Given the description of an element on the screen output the (x, y) to click on. 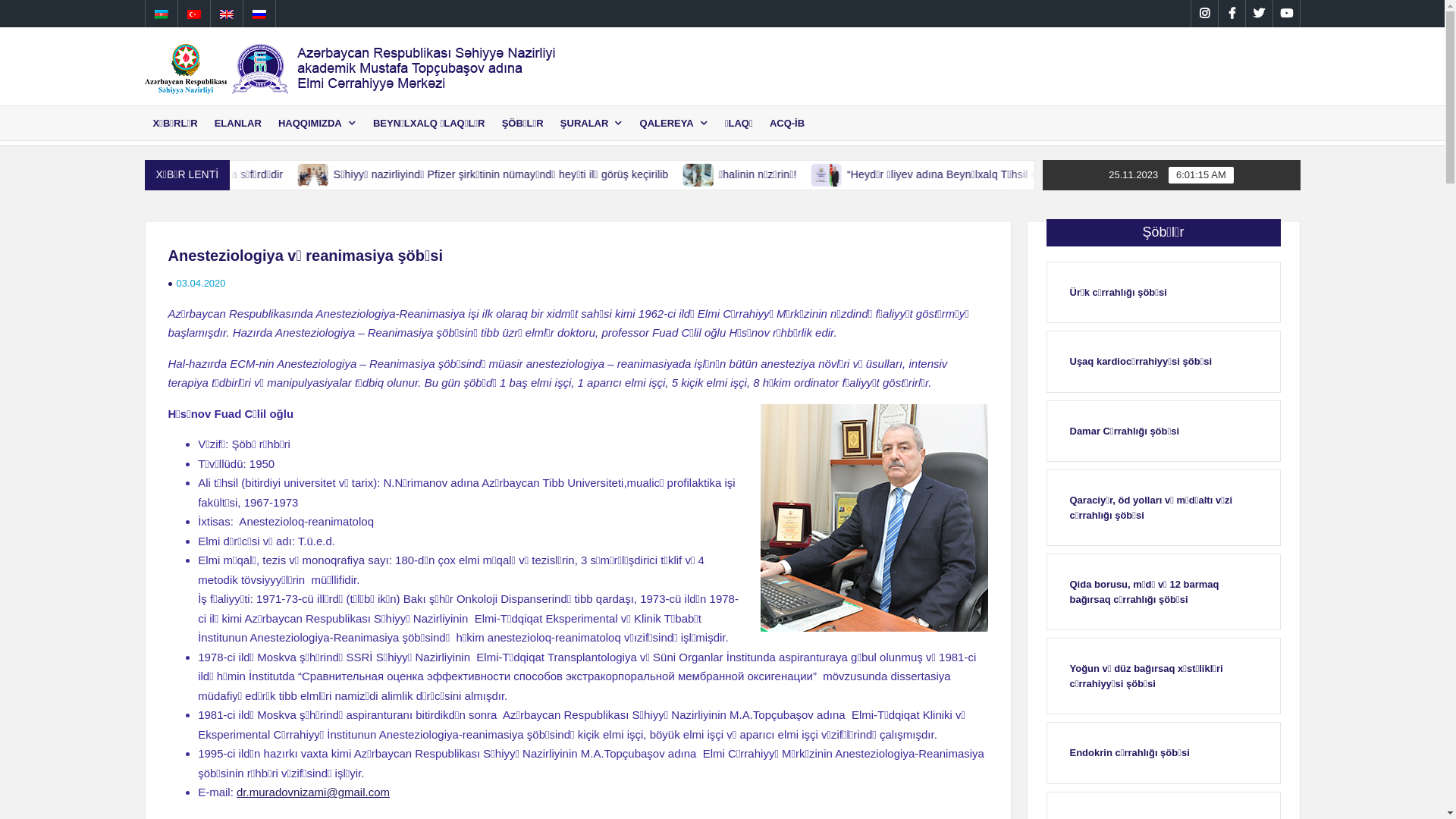
QALEREYA Element type: text (673, 123)
ELANLAR Element type: text (237, 123)
HAQQIMIZDA Element type: text (316, 123)
dr.muradovnizami@gmail.com Element type: text (312, 791)
03.04.2020 Element type: text (200, 282)
